Given the description of an element on the screen output the (x, y) to click on. 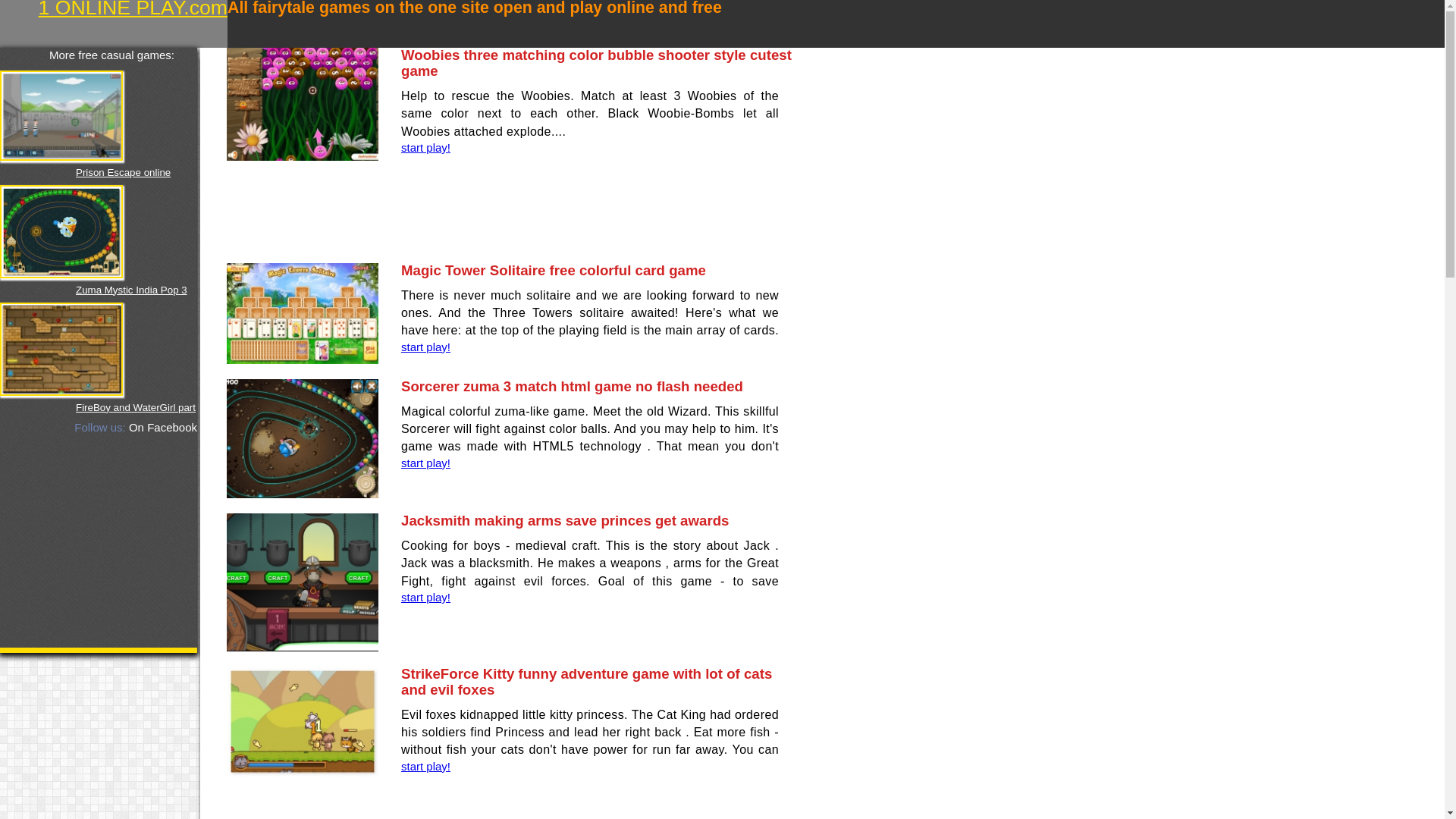
start play! (425, 146)
Sorcerer zuma 3 match html game no flash needed (571, 385)
Play The Game: Prison Escape online shooter game (61, 115)
start play! (425, 596)
Jacksmith making arms save princes get awards (565, 520)
Prison Escape online shooter game (122, 180)
Play The Game: Zuma Mystic India Pop 3 match game (61, 231)
